Given the description of an element on the screen output the (x, y) to click on. 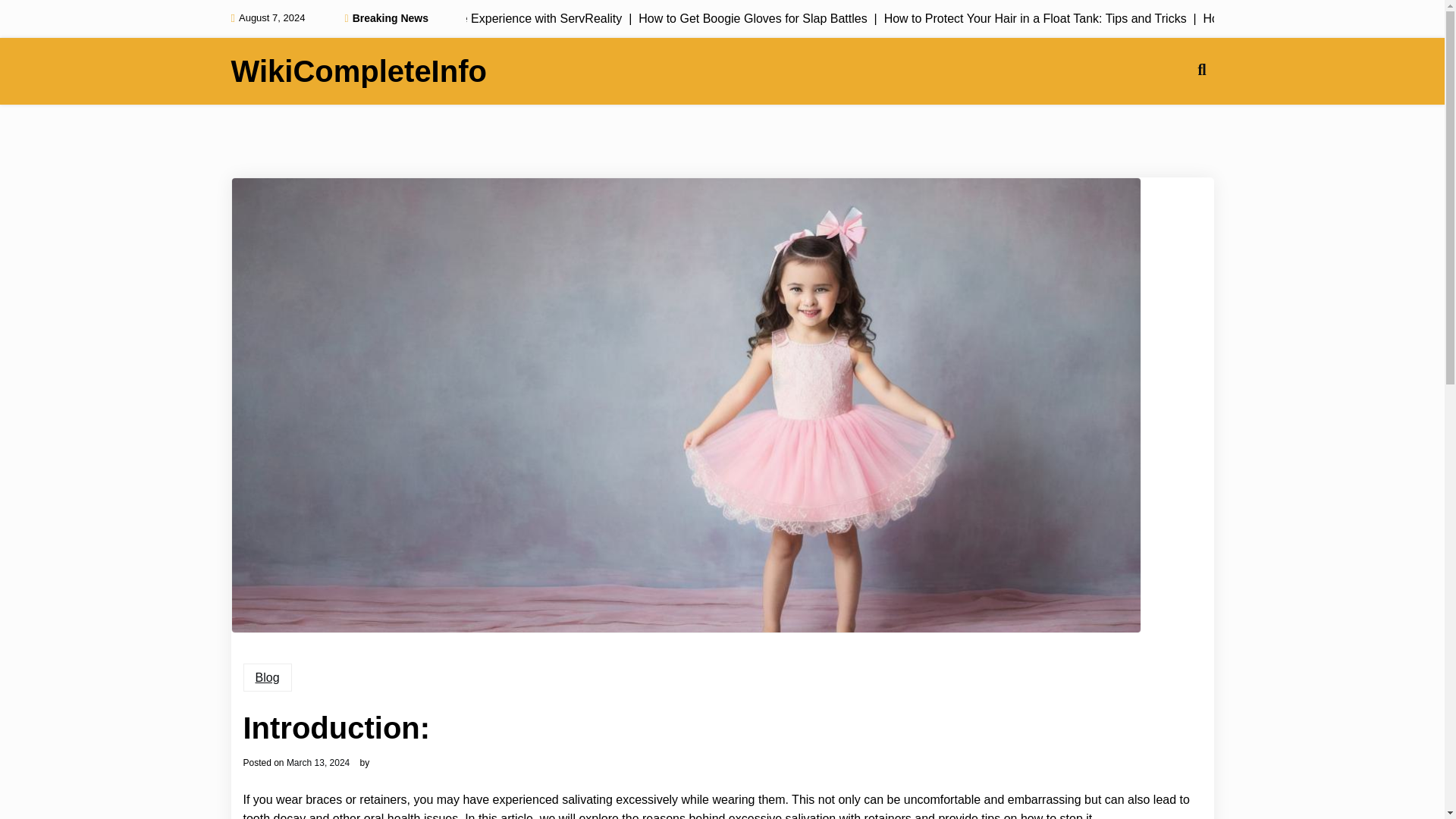
March 13, 2024 (317, 762)
WikiCompleteInfo (358, 71)
Blog (267, 677)
